Given the description of an element on the screen output the (x, y) to click on. 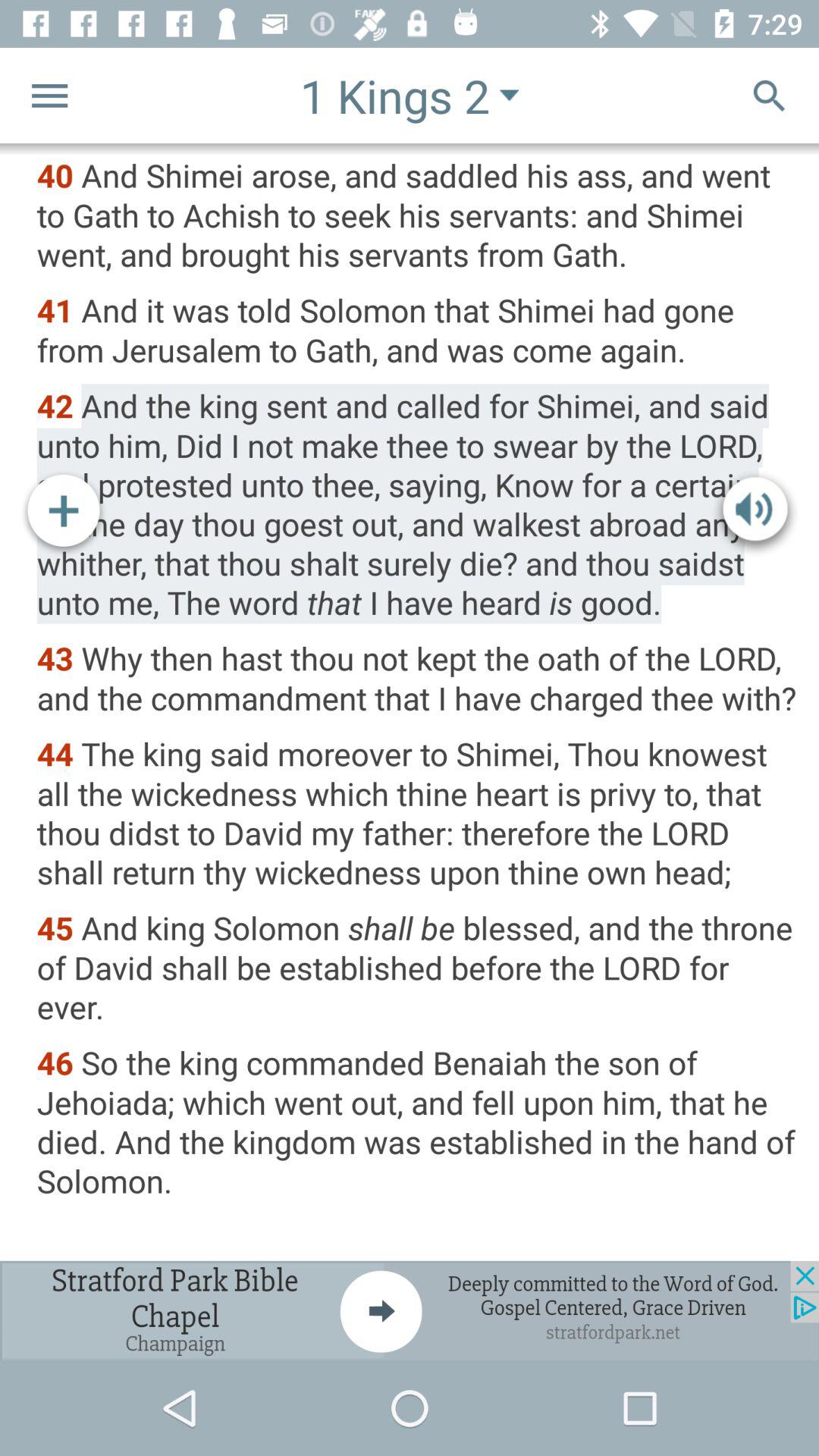
change audio volume (755, 513)
